Given the description of an element on the screen output the (x, y) to click on. 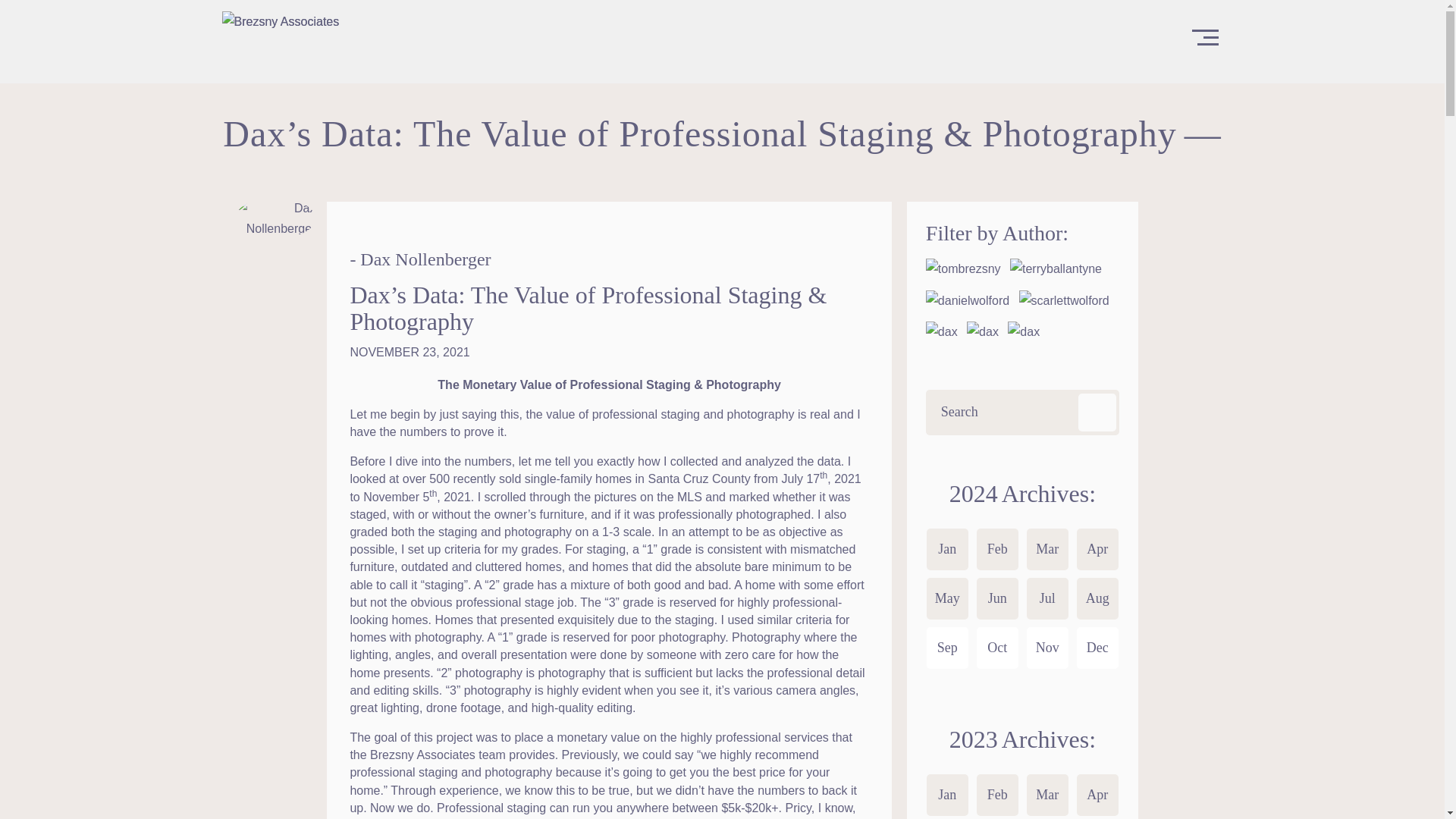
April 2001 (1097, 794)
Jan (947, 549)
Jul (1047, 598)
2024 (1019, 492)
May (947, 598)
January 2001 (947, 794)
May 2001 (947, 598)
Aug (1097, 598)
Mar (1047, 549)
Apr (1097, 549)
Feb (996, 549)
Jan (947, 794)
August 2001 (1097, 598)
March 2001 (1047, 549)
